Given the description of an element on the screen output the (x, y) to click on. 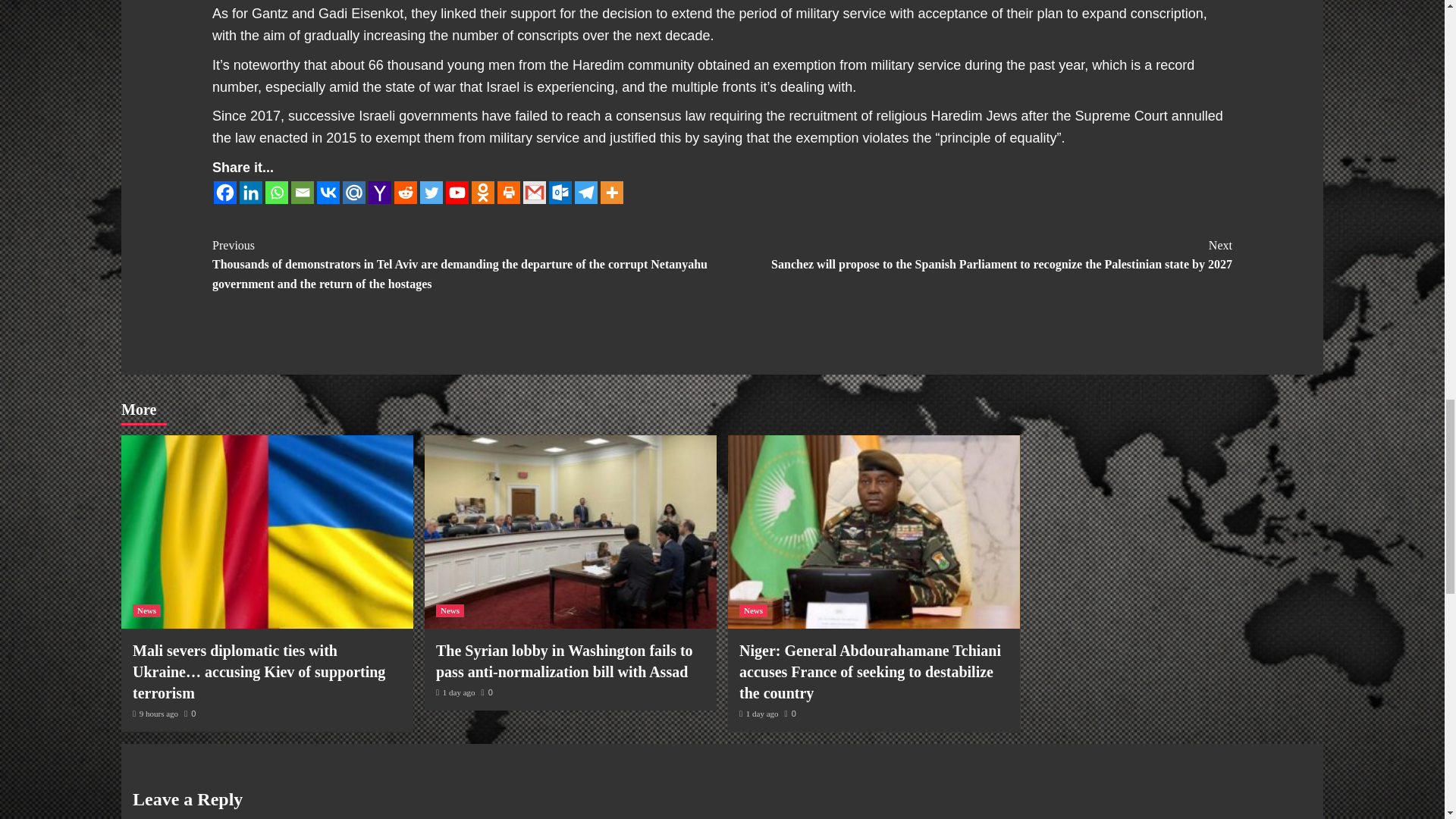
Youtube (456, 191)
Print (508, 191)
Whatsapp (276, 191)
Twitter (431, 191)
Vkontakte (328, 191)
Email (302, 191)
Odnoklassniki (483, 191)
Linkedin (251, 191)
Mail.Ru (353, 191)
Reddit (405, 191)
Yahoo Mail (379, 191)
Facebook (224, 191)
